Given the description of an element on the screen output the (x, y) to click on. 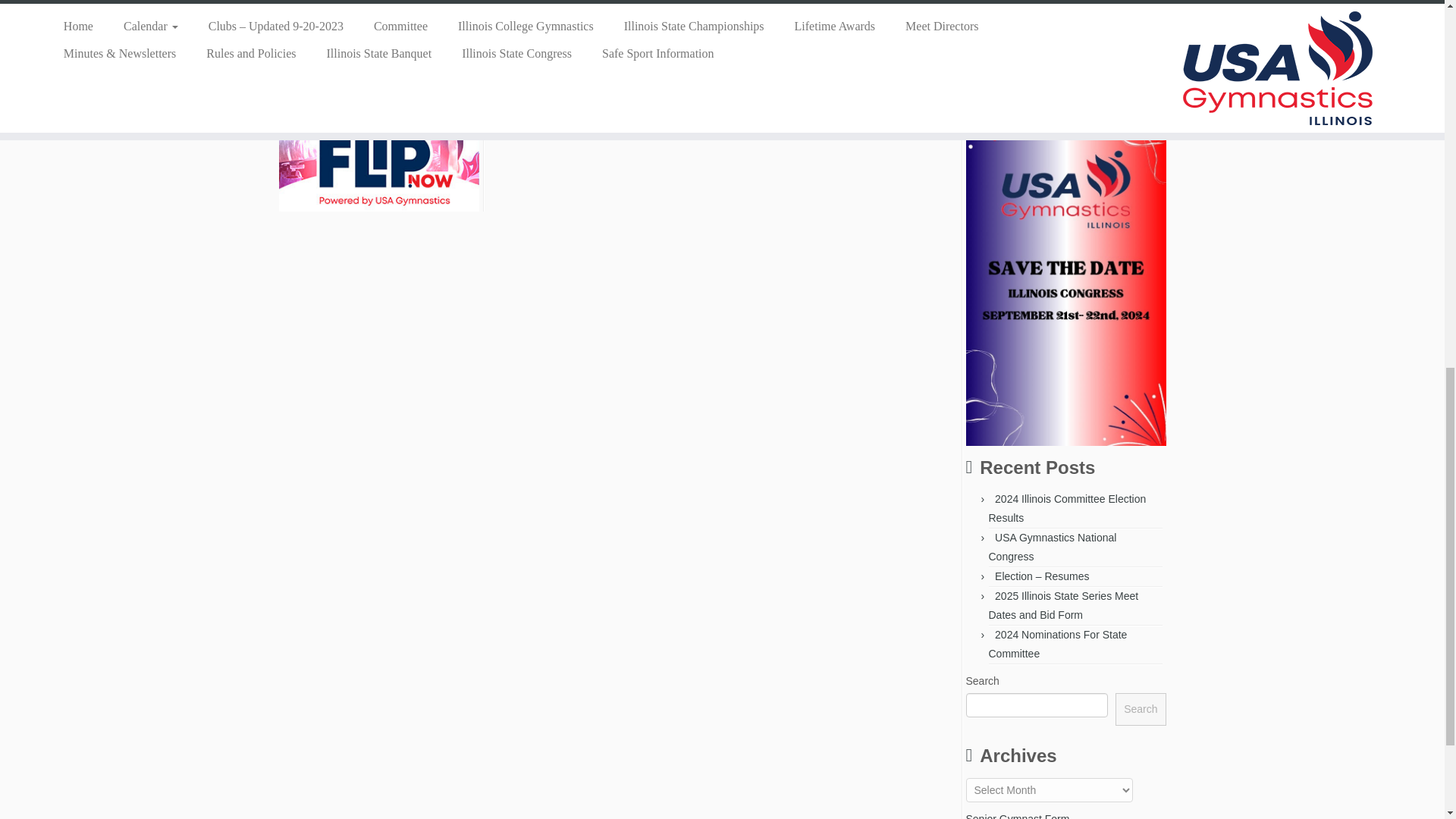
USA Gymnastics National Congress (1052, 546)
2024 Illinois Committee Election Results (1067, 508)
2025 Illinois State Series Meet Dates and Bid Form (1063, 604)
Search (1140, 708)
2024 Nominations For State Committee (1057, 644)
